Given the description of an element on the screen output the (x, y) to click on. 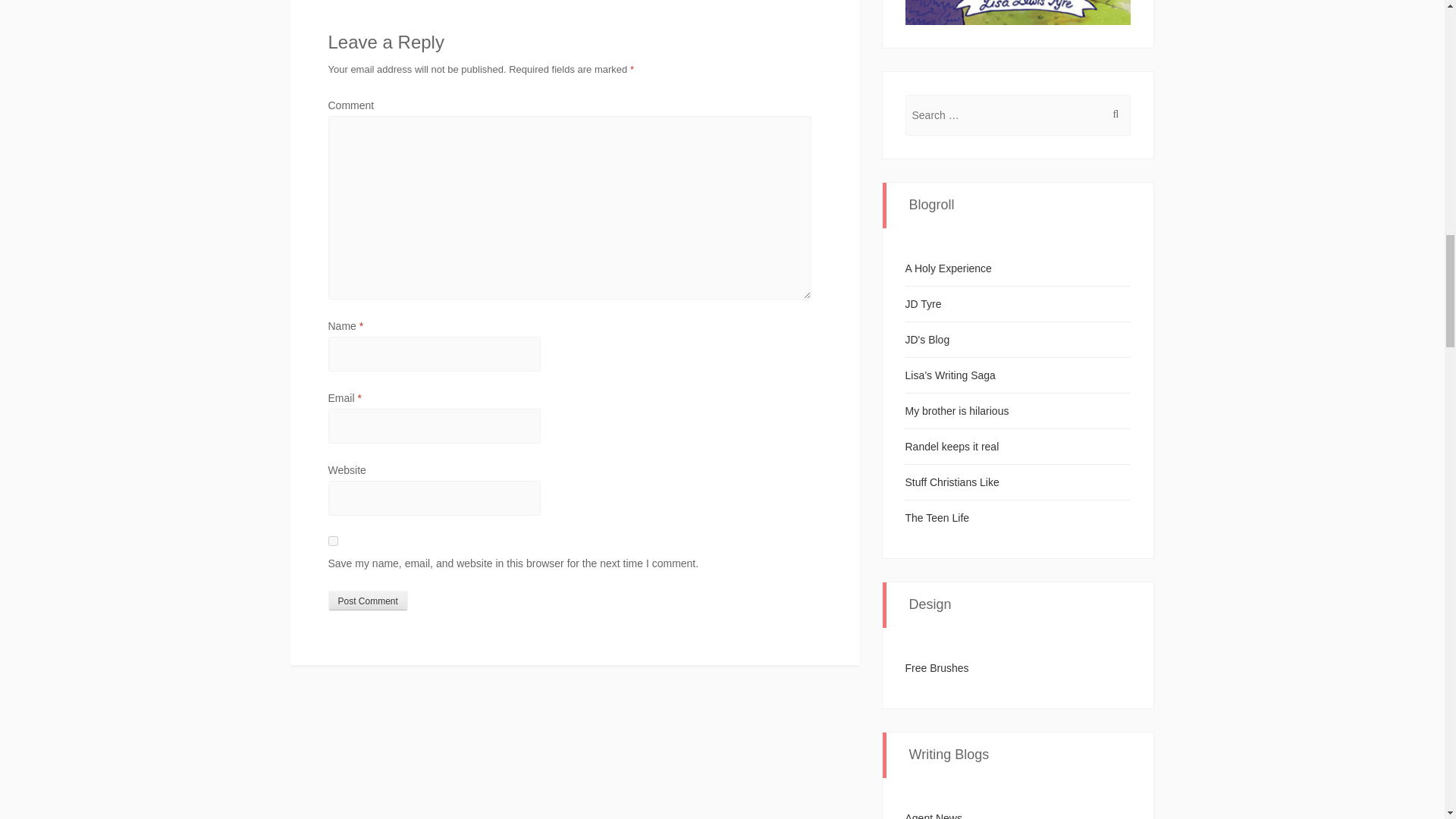
Randel keeps it real (951, 446)
Stuff Christians Like (951, 481)
Post Comment (367, 600)
JD's Blog (927, 339)
My brother is hilarious (957, 410)
Awesome Photo Blog (927, 339)
The funniest guy on the planet. (957, 410)
A Holy Experience (948, 268)
The Teen Life (937, 517)
yes (332, 541)
